Given the description of an element on the screen output the (x, y) to click on. 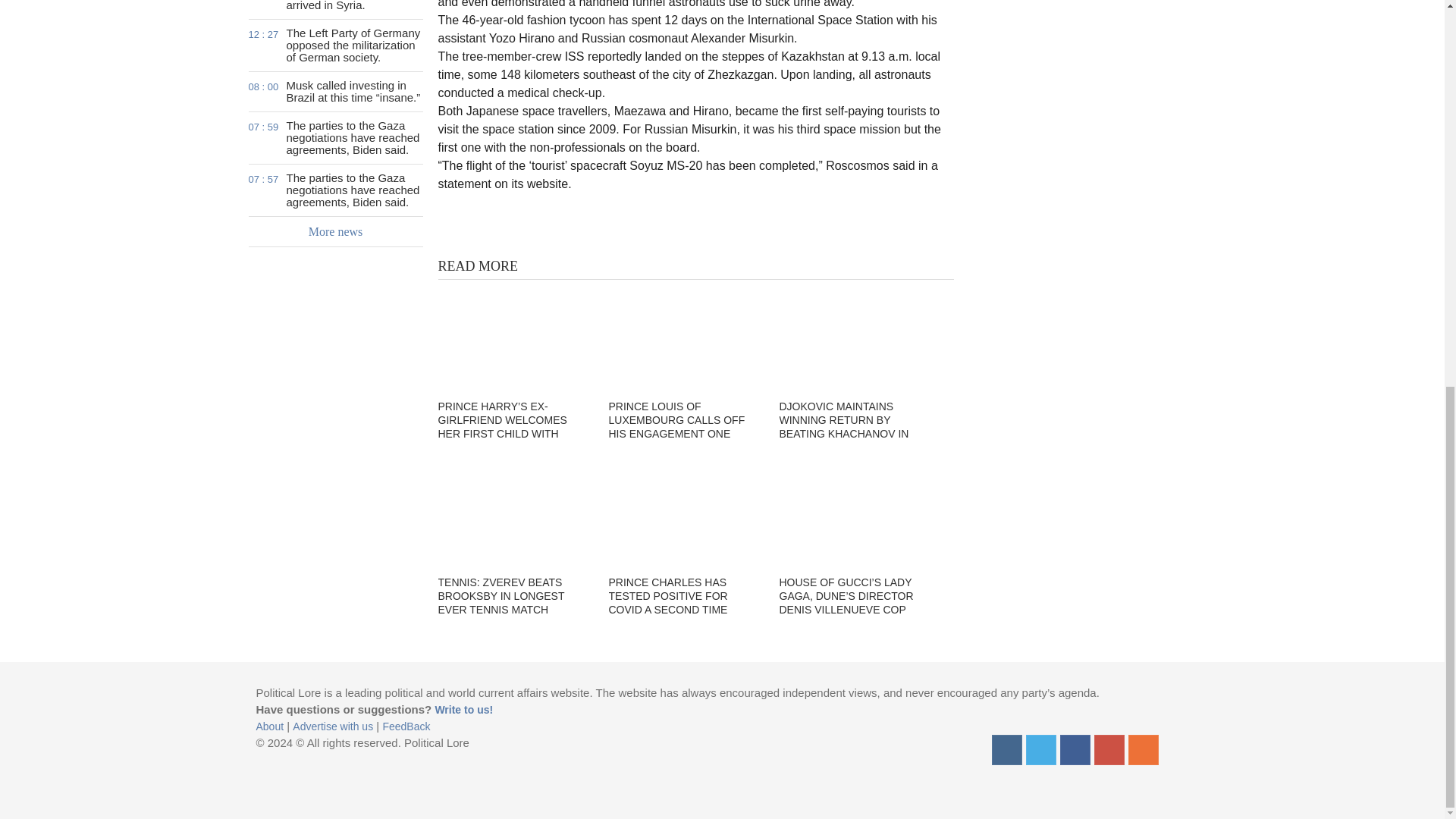
Twitter (1040, 749)
Prince Charles has tested positive for COVID a second time (684, 513)
Facebook (335, 9)
More news (1074, 749)
